Given the description of an element on the screen output the (x, y) to click on. 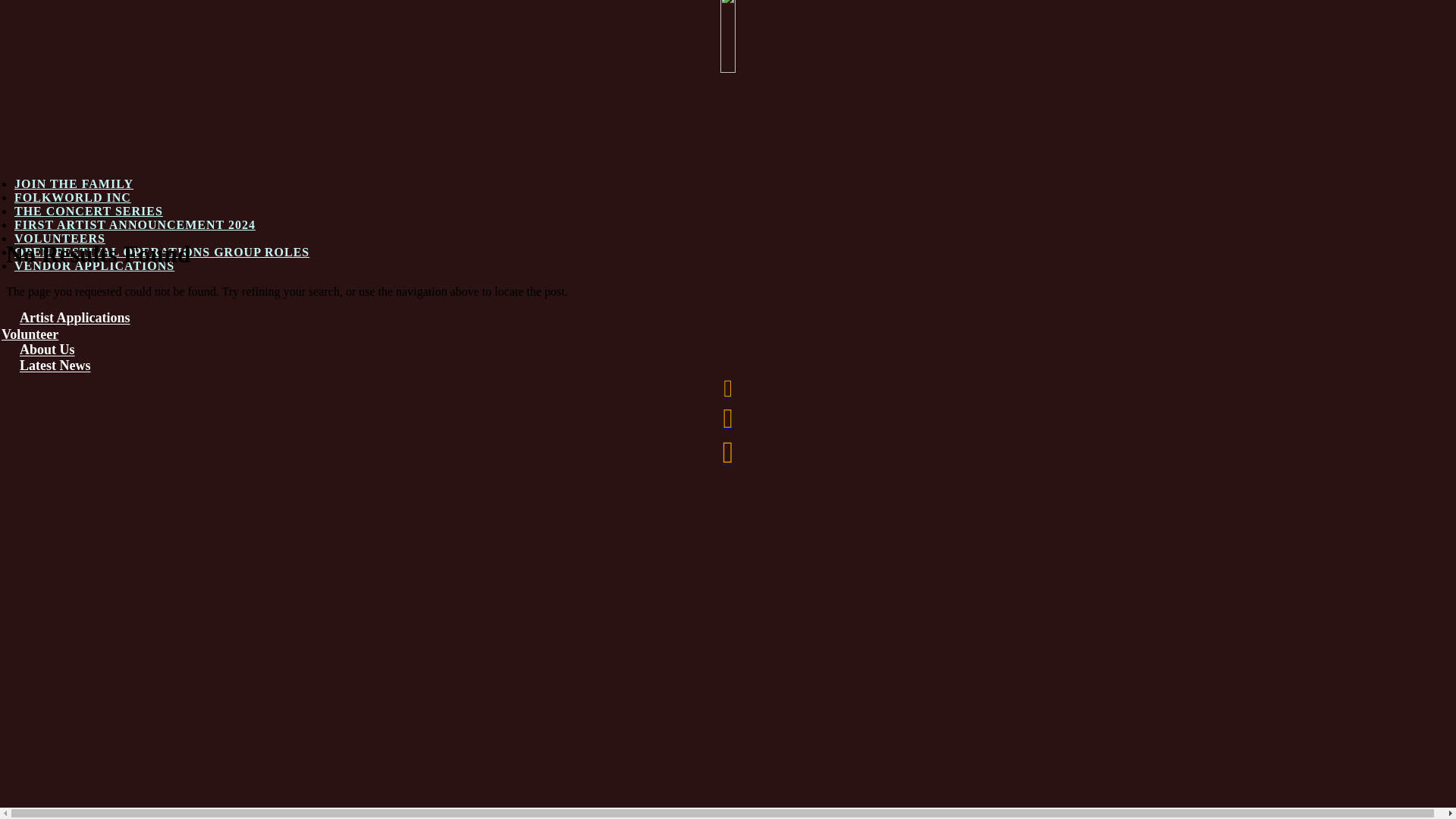
VENDOR APPLICATIONS Element type: text (94, 265)
FIRST ARTIST ANNOUNCEMENT 2024 Element type: text (134, 224)
JOIN THE FAMILY Element type: text (73, 183)
OPEN FESTIVAL OPERATIONS GROUP ROLES Element type: text (161, 251)
About Us Element type: text (47, 349)
Artist Applications Element type: text (75, 317)
THE CONCERT SERIES Element type: text (88, 210)
VOLUNTEERS Element type: text (59, 238)
Latest News Element type: text (54, 365)
FOLKWORLD INC Element type: text (72, 197)
